Given the description of an element on the screen output the (x, y) to click on. 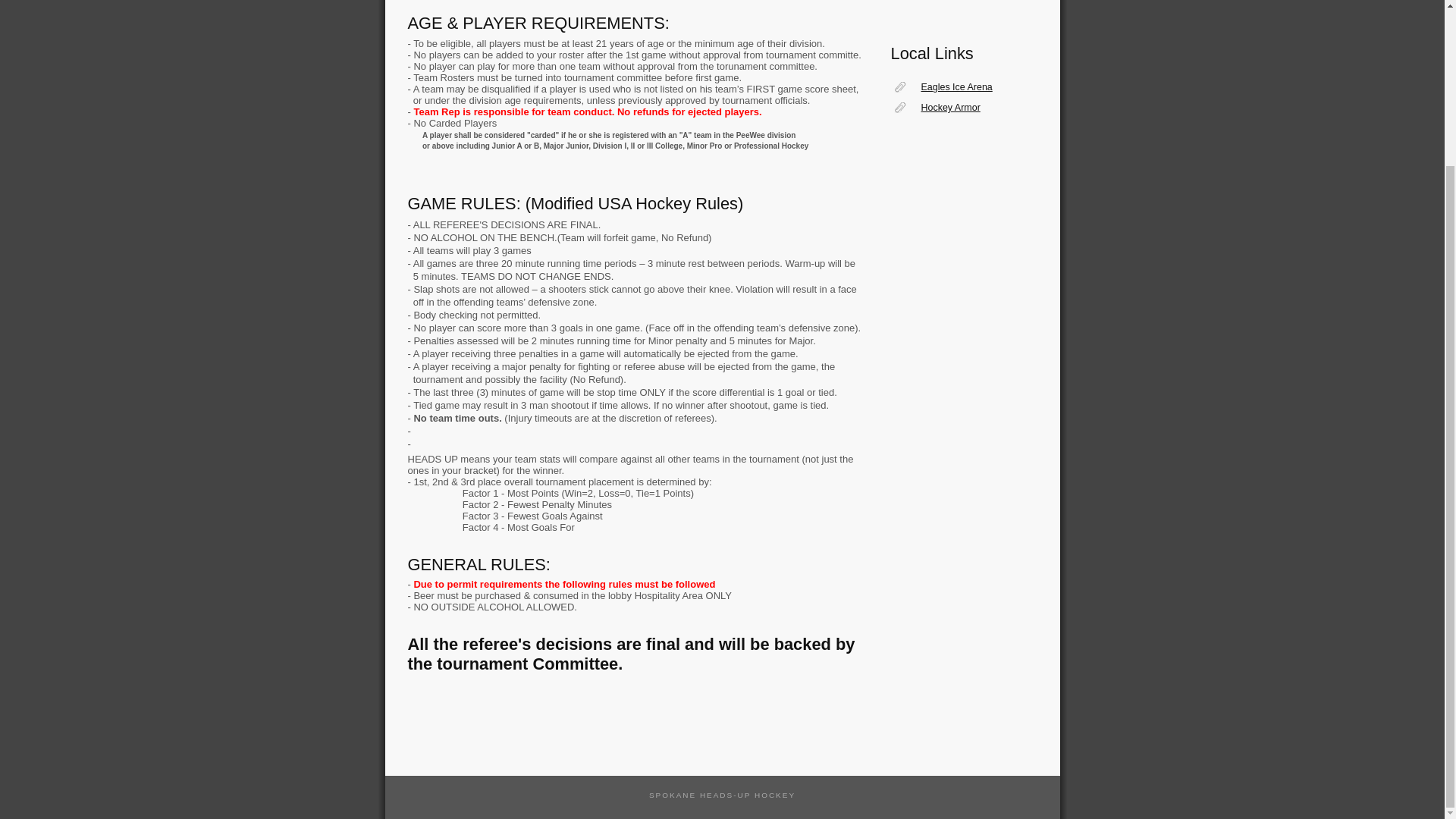
Eagles Ice Arena (957, 86)
Hockey Armor (957, 107)
